Given the description of an element on the screen output the (x, y) to click on. 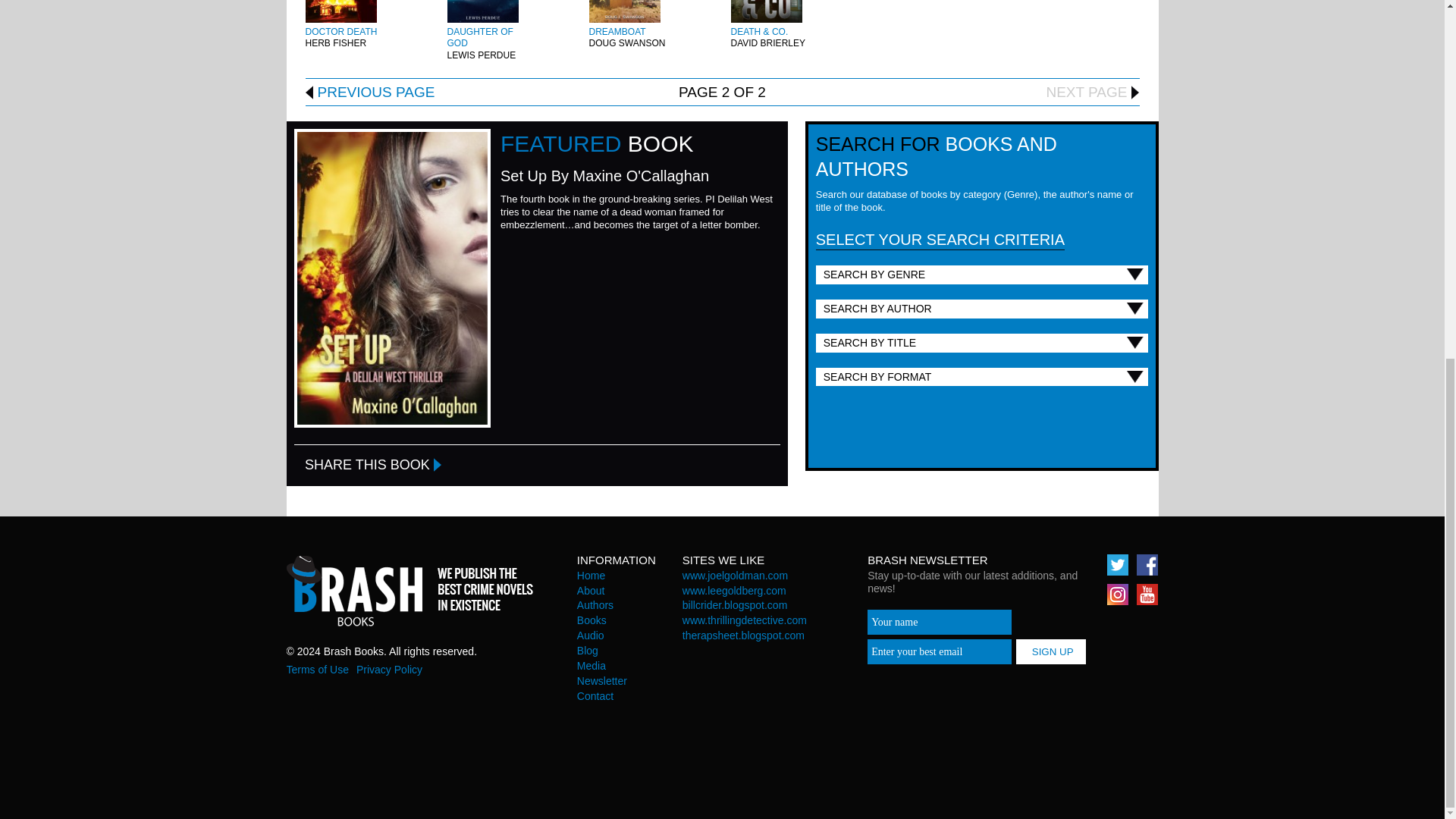
Sign Up (1051, 651)
Brash Books Homepage (409, 590)
DOCTOR DEATH (340, 31)
